Given the description of an element on the screen output the (x, y) to click on. 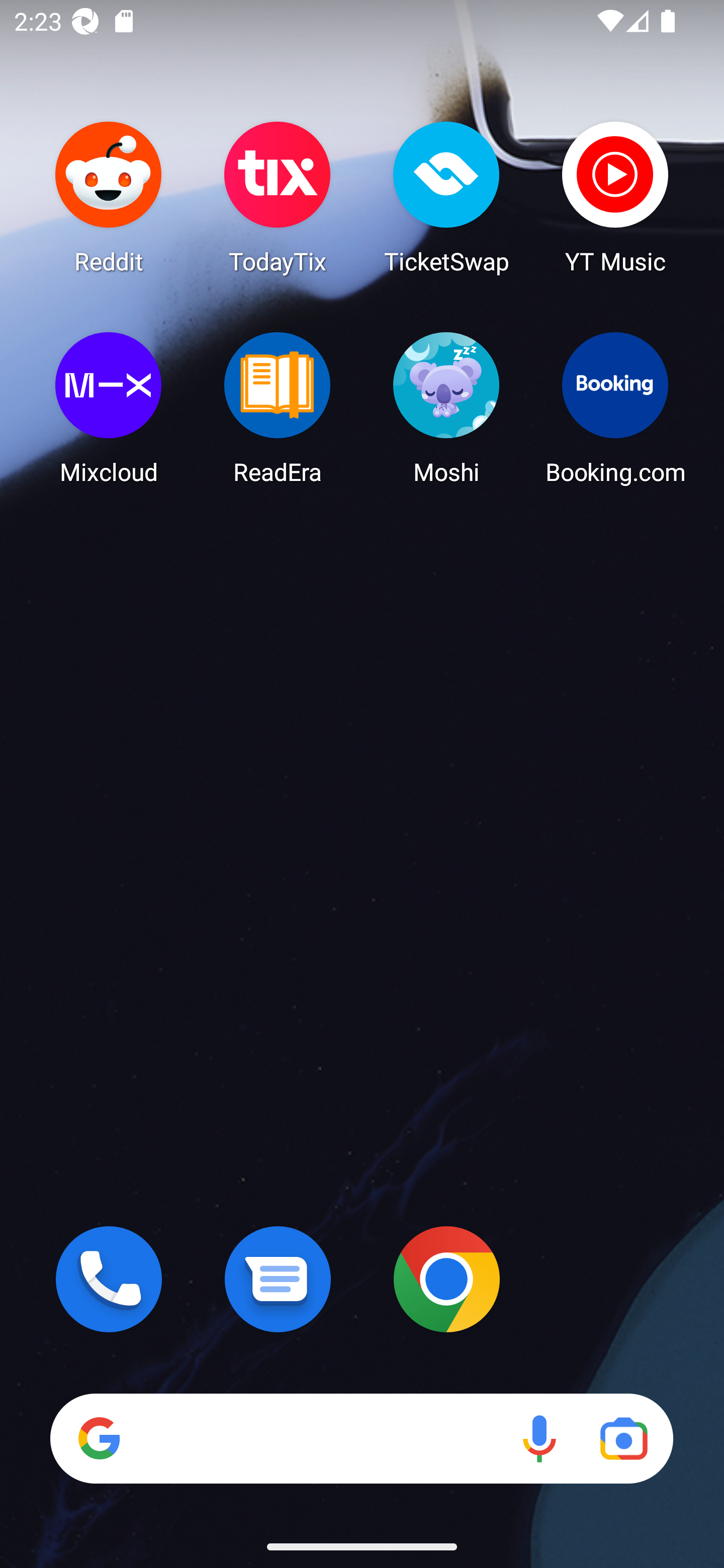
Reddit (108, 196)
TodayTix (277, 196)
TicketSwap (445, 196)
YT Music (615, 196)
Mixcloud (108, 407)
ReadEra (277, 407)
Moshi (445, 407)
Booking.com (615, 407)
Phone (108, 1279)
Messages (277, 1279)
Chrome (446, 1279)
Search Voice search Google Lens (361, 1438)
Voice search (539, 1438)
Google Lens (623, 1438)
